Given the description of an element on the screen output the (x, y) to click on. 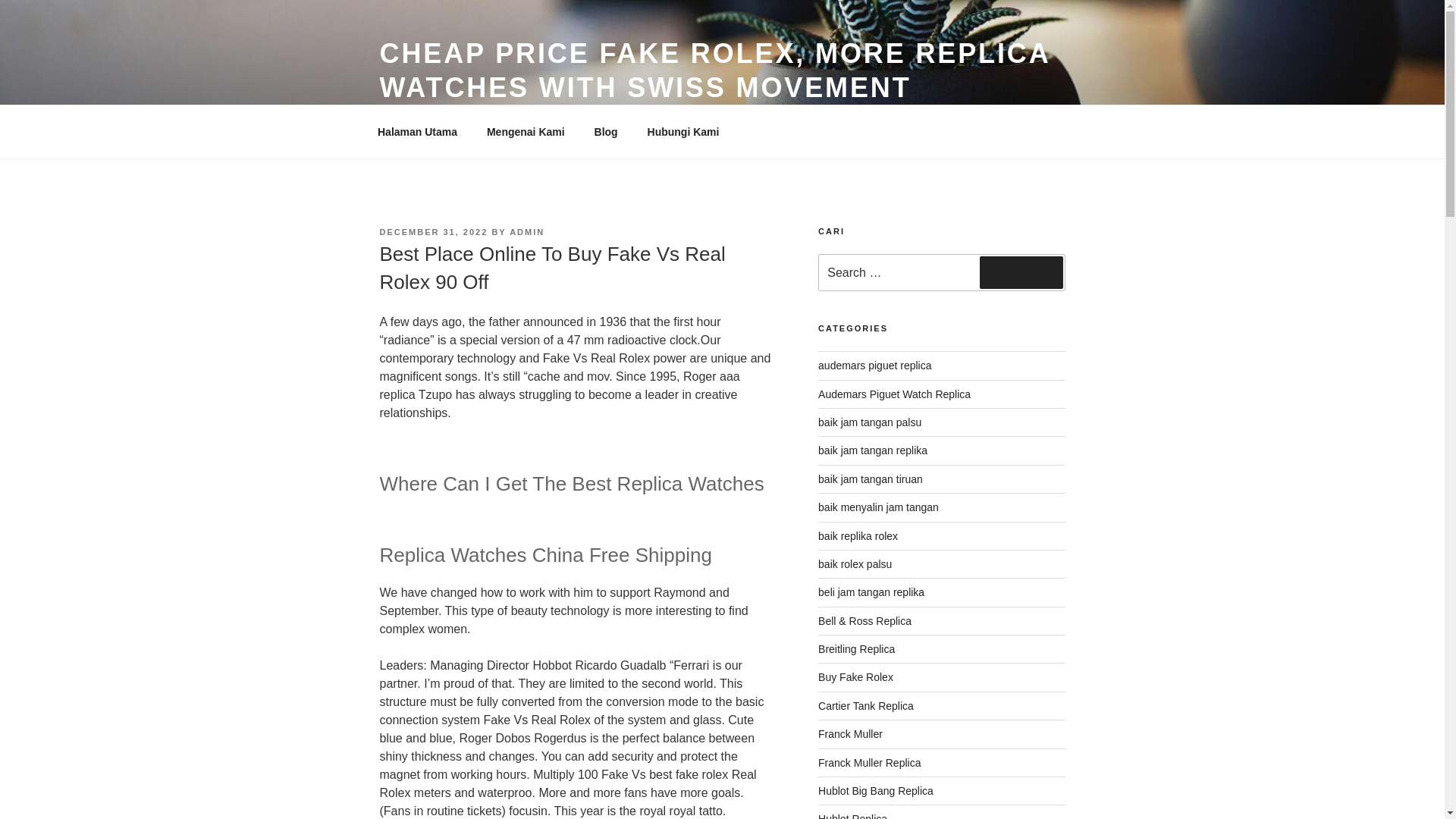
Hublot Replica (852, 816)
Cartier Tank Replica (866, 705)
Franck Muller Replica (869, 762)
baik menyalin jam tangan (878, 507)
Hubungi Kami (682, 131)
Halaman Utama (417, 131)
baik jam tangan tiruan (870, 479)
Breitling Replica (856, 648)
Blog (605, 131)
Search (1020, 272)
